Given the description of an element on the screen output the (x, y) to click on. 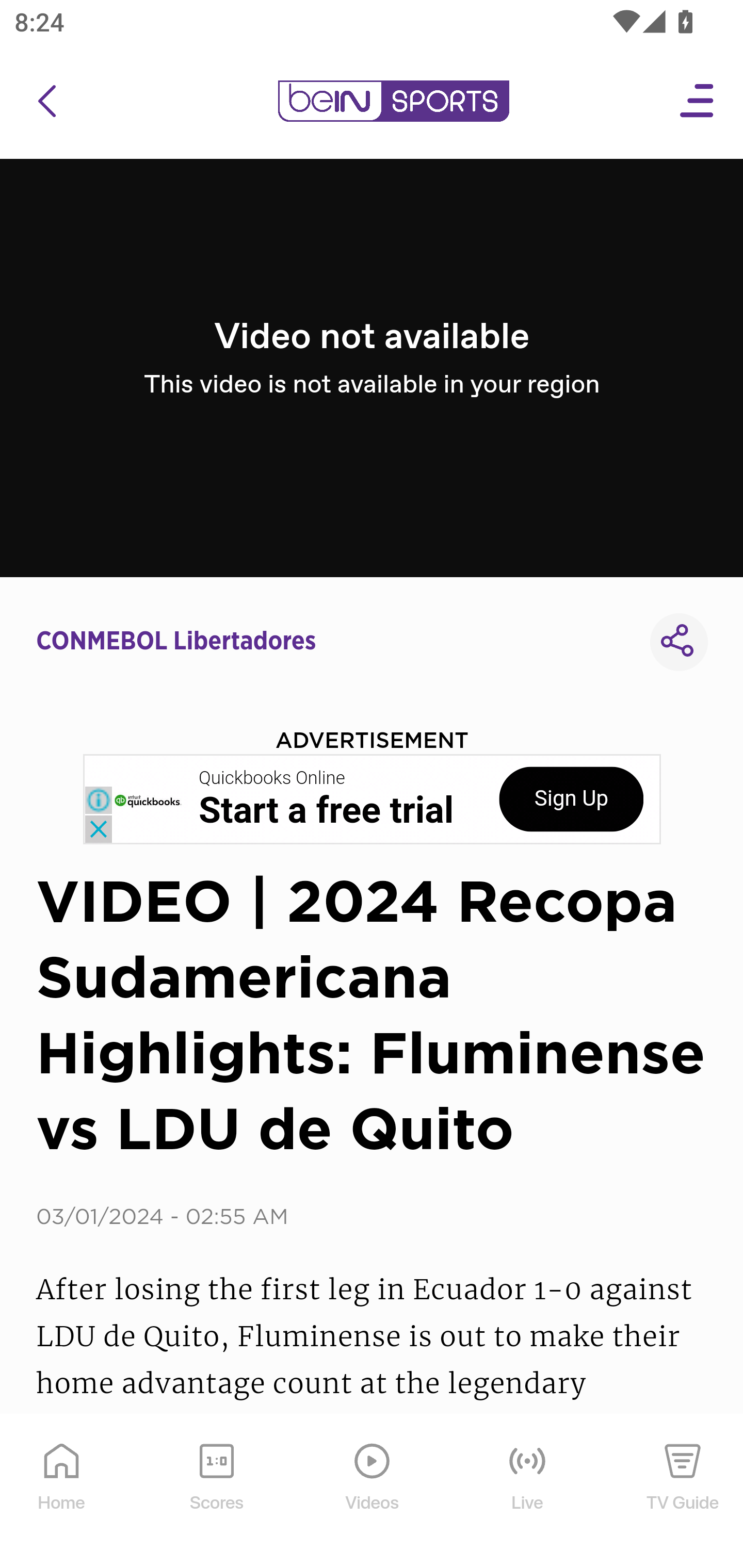
en-us?platform=mobile_android bein logo (392, 101)
icon back (46, 101)
Open Menu Icon (697, 101)
Quickbooks Online (272, 778)
Sign Up (571, 799)
Start a free trial (326, 810)
Home Home Icon Home (61, 1491)
Scores Scores Icon Scores (216, 1491)
Videos Videos Icon Videos (372, 1491)
TV Guide TV Guide Icon TV Guide (682, 1491)
